Given the description of an element on the screen output the (x, y) to click on. 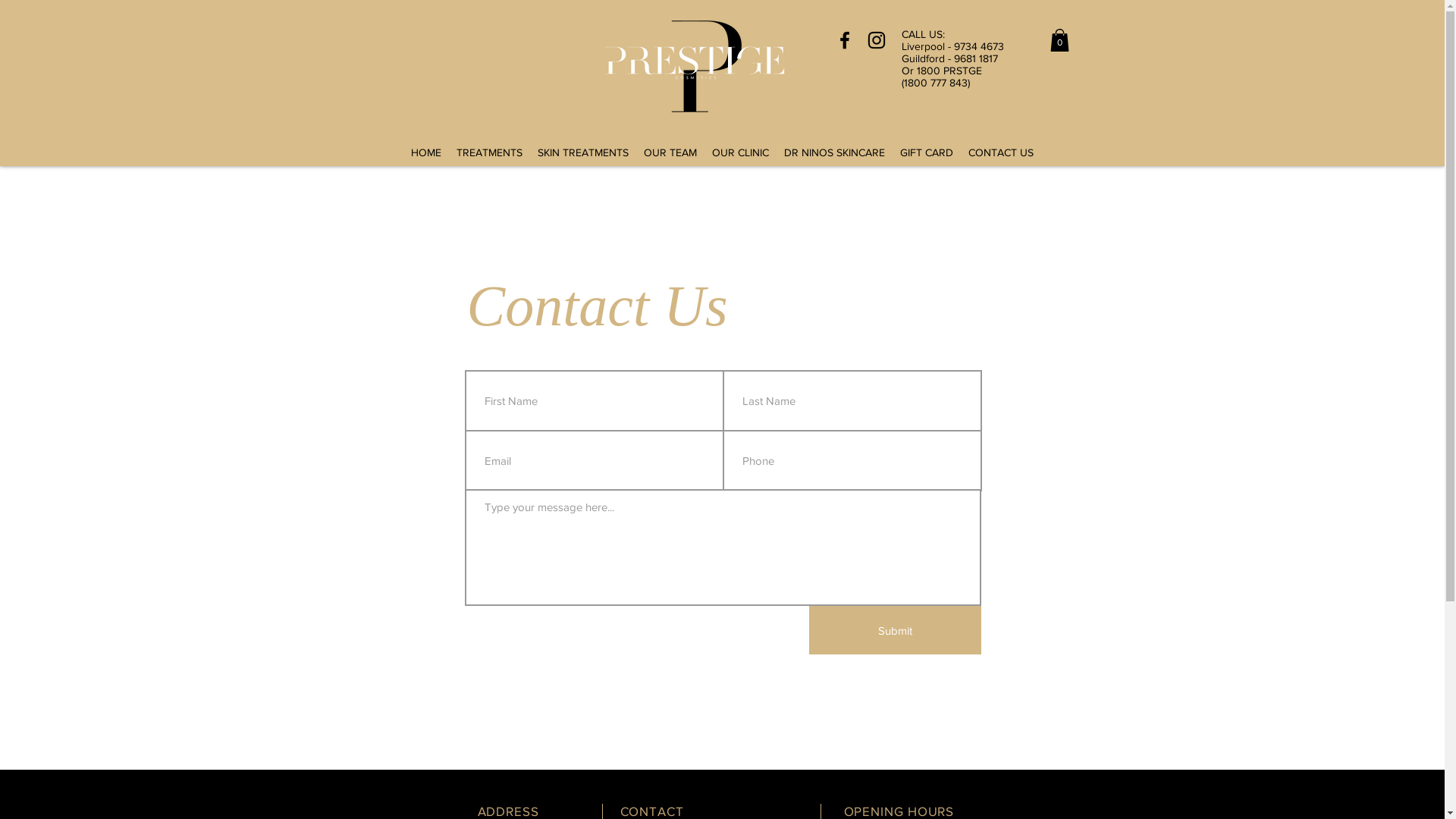
GIFT CARD Element type: text (926, 152)
SKIN TREATMENTS Element type: text (583, 152)
DR NINOS SKINCARE Element type: text (834, 152)
HOME Element type: text (425, 152)
CONTACT US Element type: text (1000, 152)
TREATMENTS Element type: text (489, 152)
OUR CLINIC Element type: text (740, 152)
OUR TEAM Element type: text (670, 152)
Submit Element type: text (894, 629)
0 Element type: text (1058, 39)
